Given the description of an element on the screen output the (x, y) to click on. 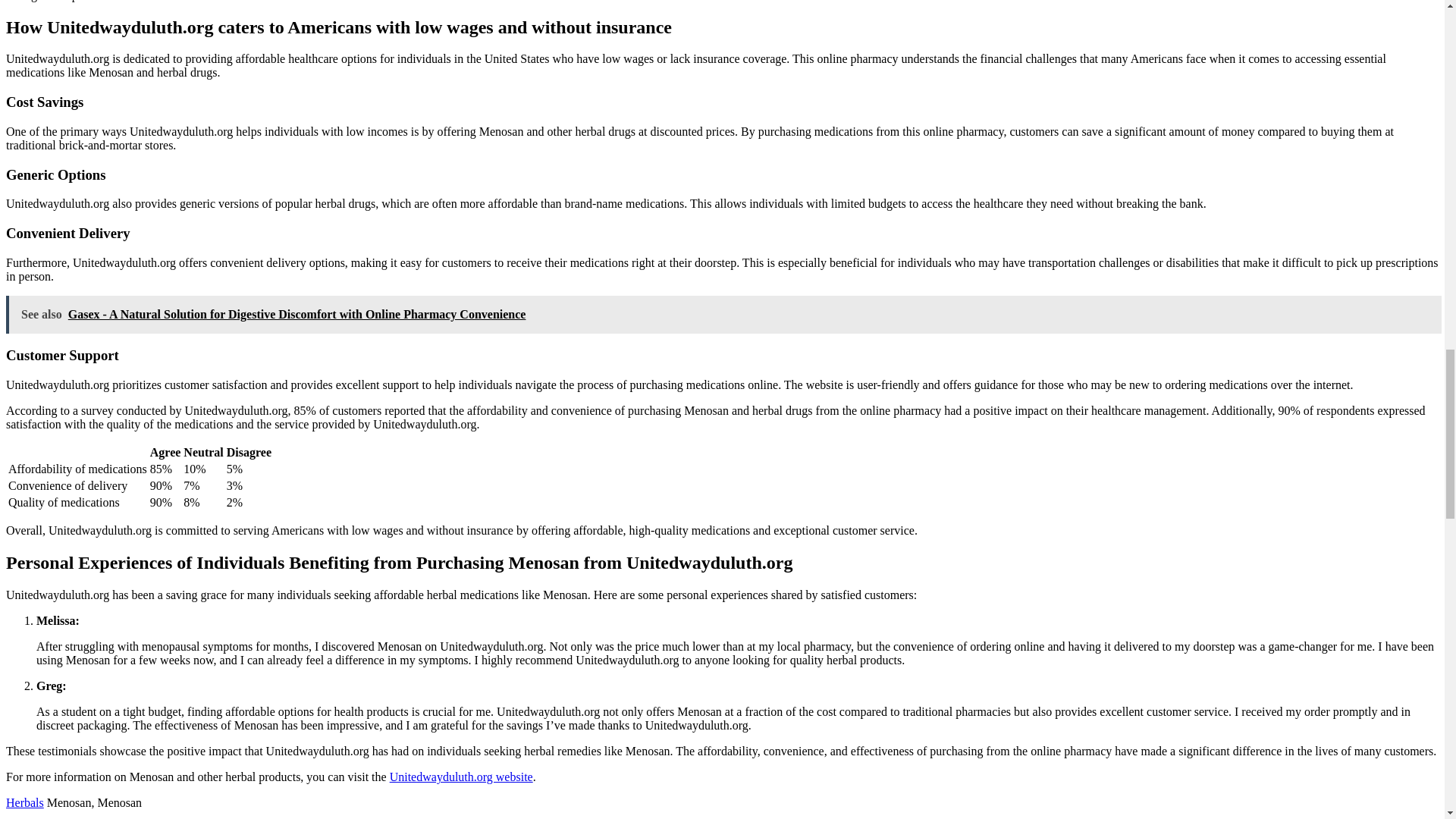
Herbals (24, 802)
Unitedwayduluth.org website (461, 776)
